Given the description of an element on the screen output the (x, y) to click on. 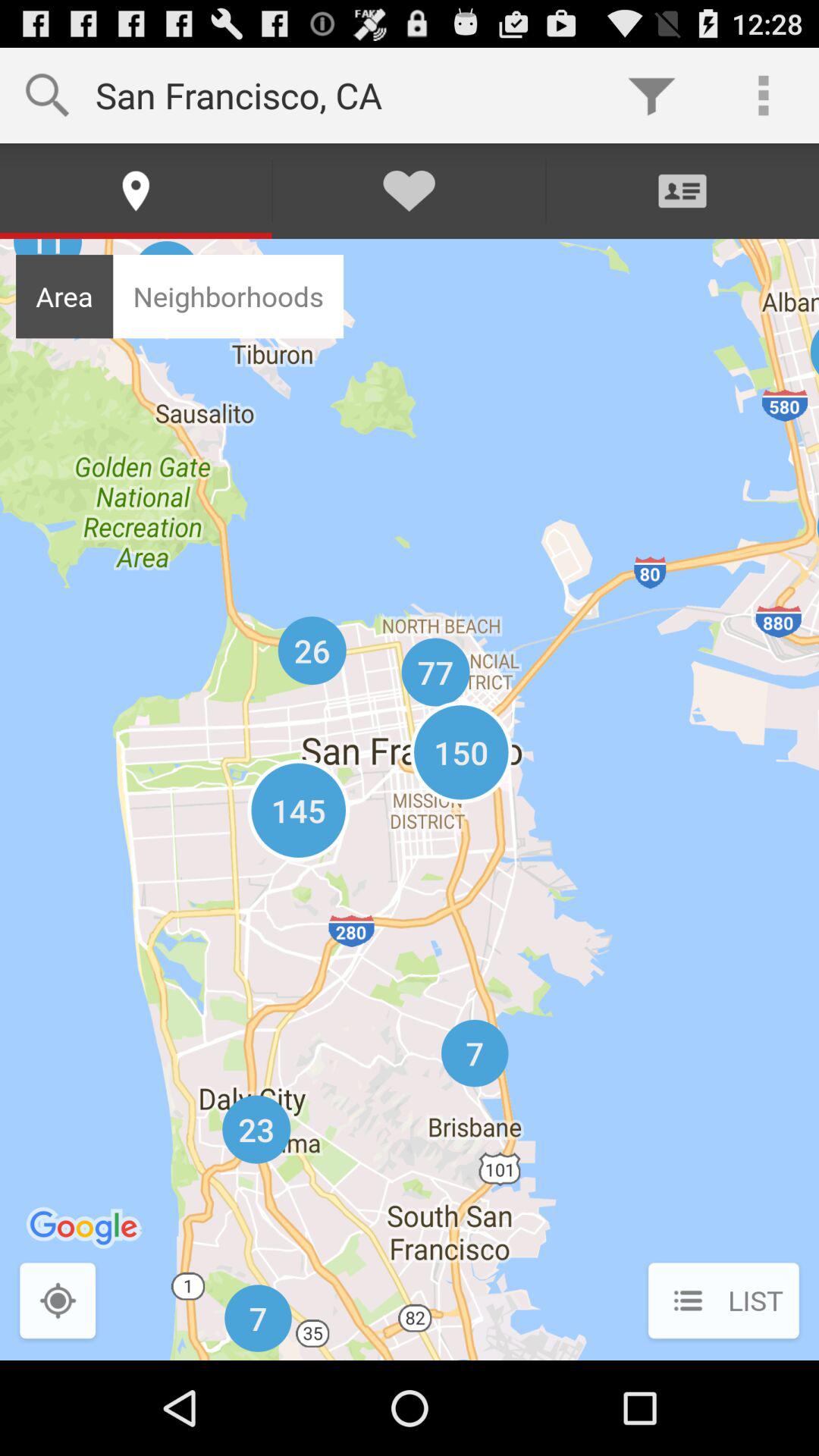
turn on gps (57, 1302)
